Given the description of an element on the screen output the (x, y) to click on. 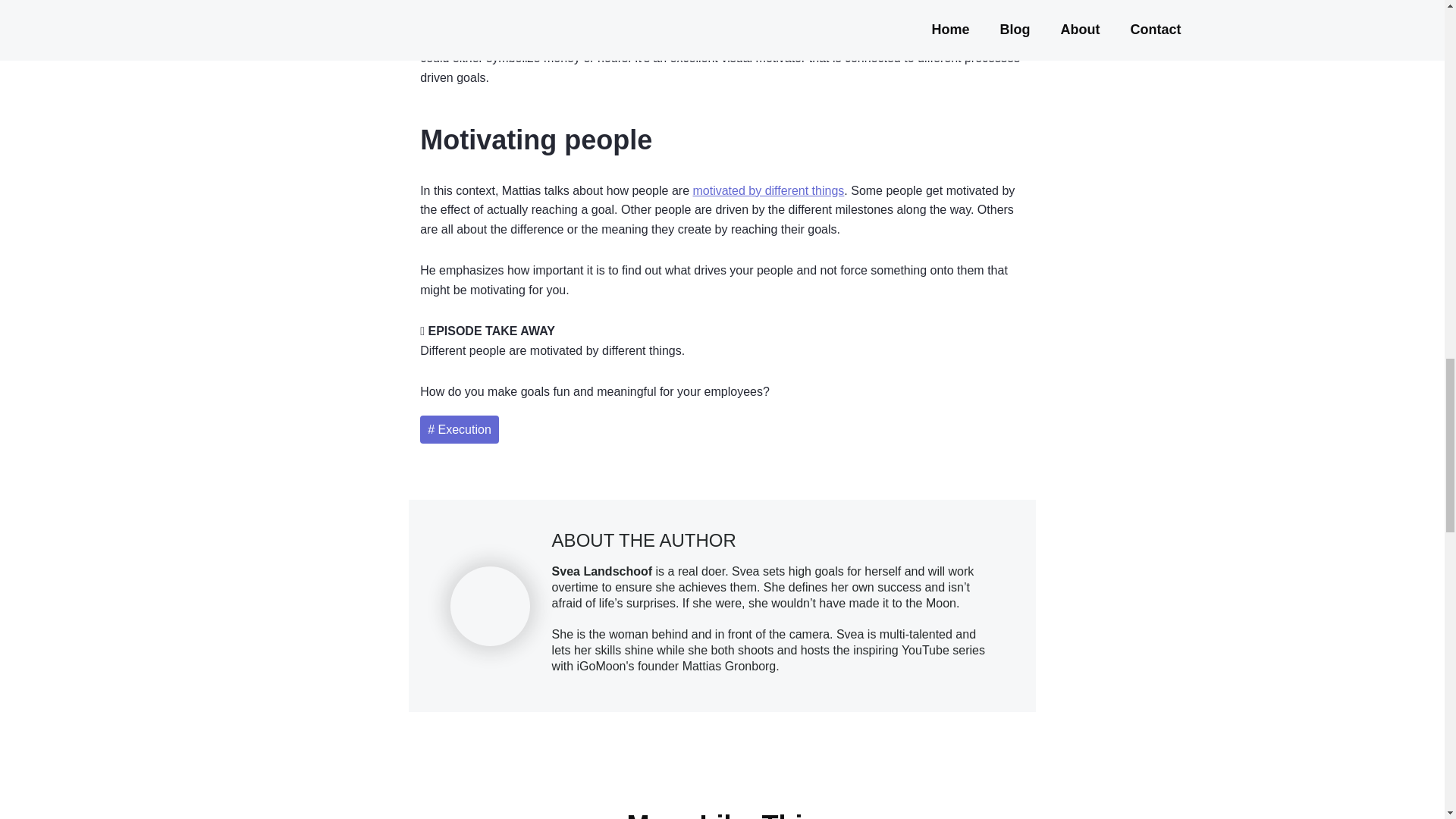
motivated by different things (768, 190)
